Given the description of an element on the screen output the (x, y) to click on. 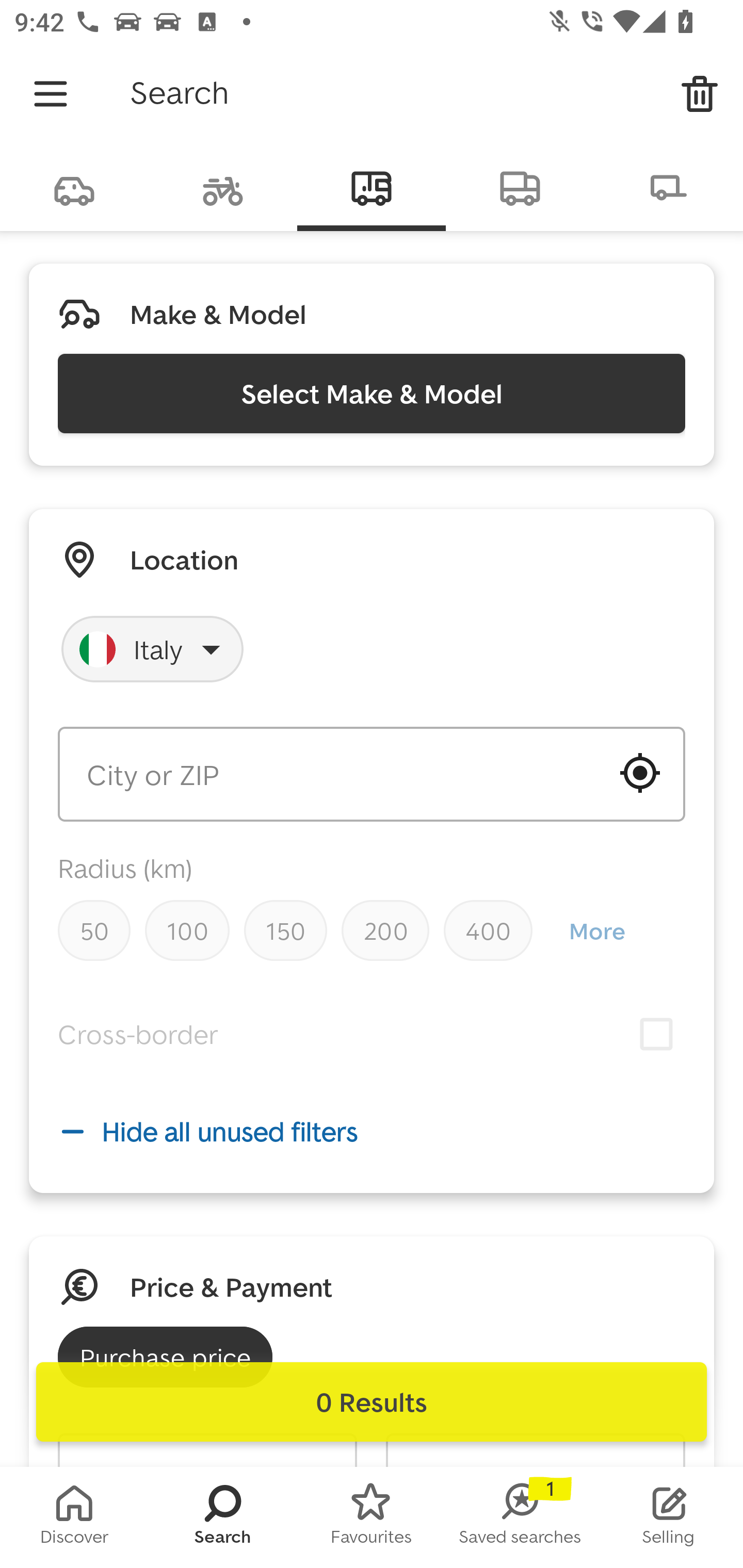
Navigate up (50, 93)
New search (699, 93)
CAR_SEARCH (74, 187)
BIKE_SEARCH (222, 187)
TRUCKS_SEARCH (519, 187)
TRAILERS_SEARCH (668, 187)
Make & Model (218, 314)
Select Make & Model (371, 393)
Location (184, 559)
Italy (152, 648)
City or ZIP (371, 773)
Radius (km) (124, 867)
50 (93, 930)
100 (186, 930)
150 (284, 930)
200 (385, 930)
400 (487, 930)
More (596, 930)
Hide all unused filters (371, 1131)
Price & Payment (231, 1287)
0 Results (371, 1401)
HOMESCREEN Discover (74, 1517)
SEARCH Search (222, 1517)
FAVORITES Favourites (371, 1517)
SAVED_SEARCHES Saved searches 1 (519, 1517)
STOCK_LIST Selling (668, 1517)
